Given the description of an element on the screen output the (x, y) to click on. 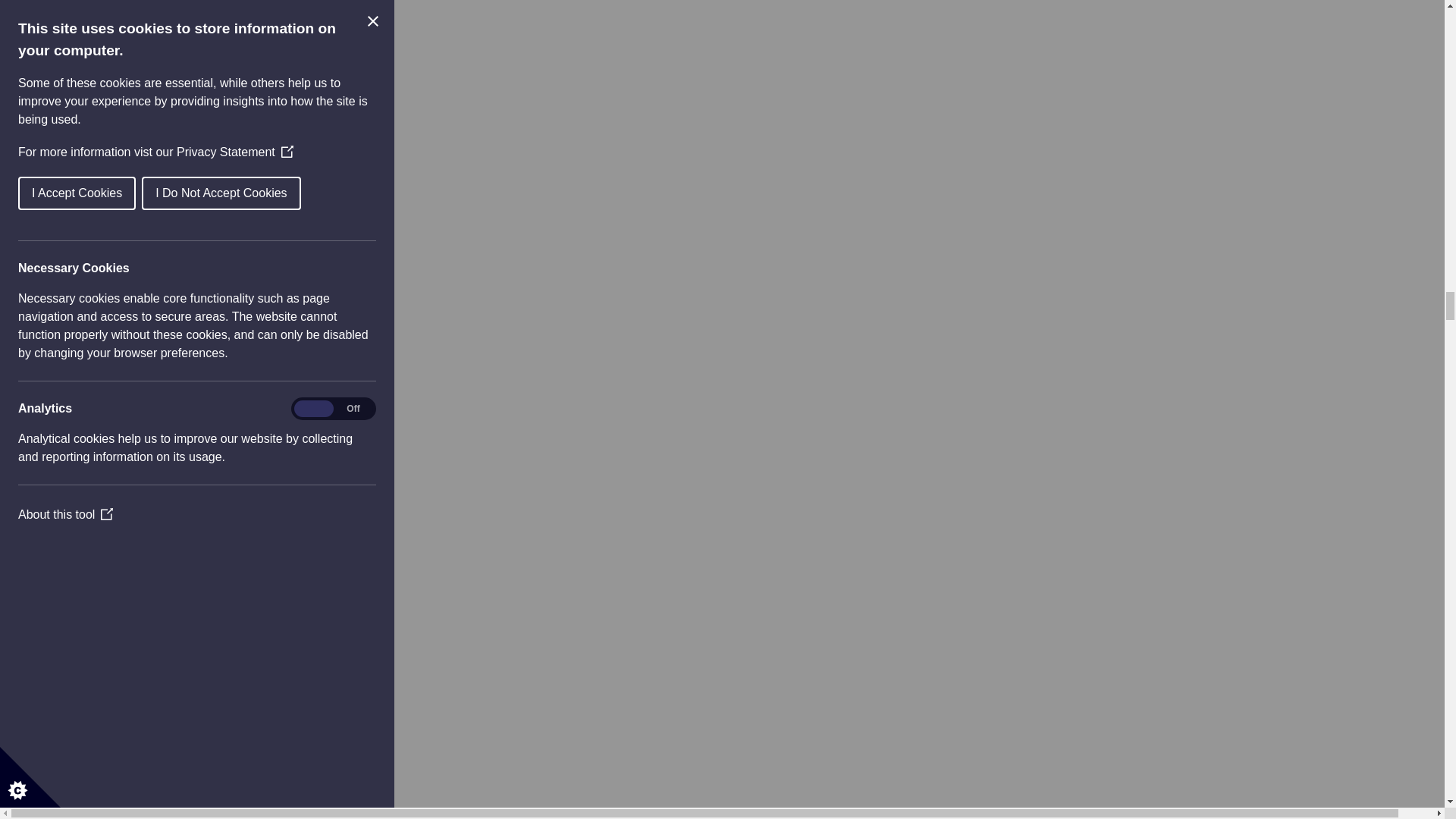
01 (92, 37)
01 (92, 639)
